Given the description of an element on the screen output the (x, y) to click on. 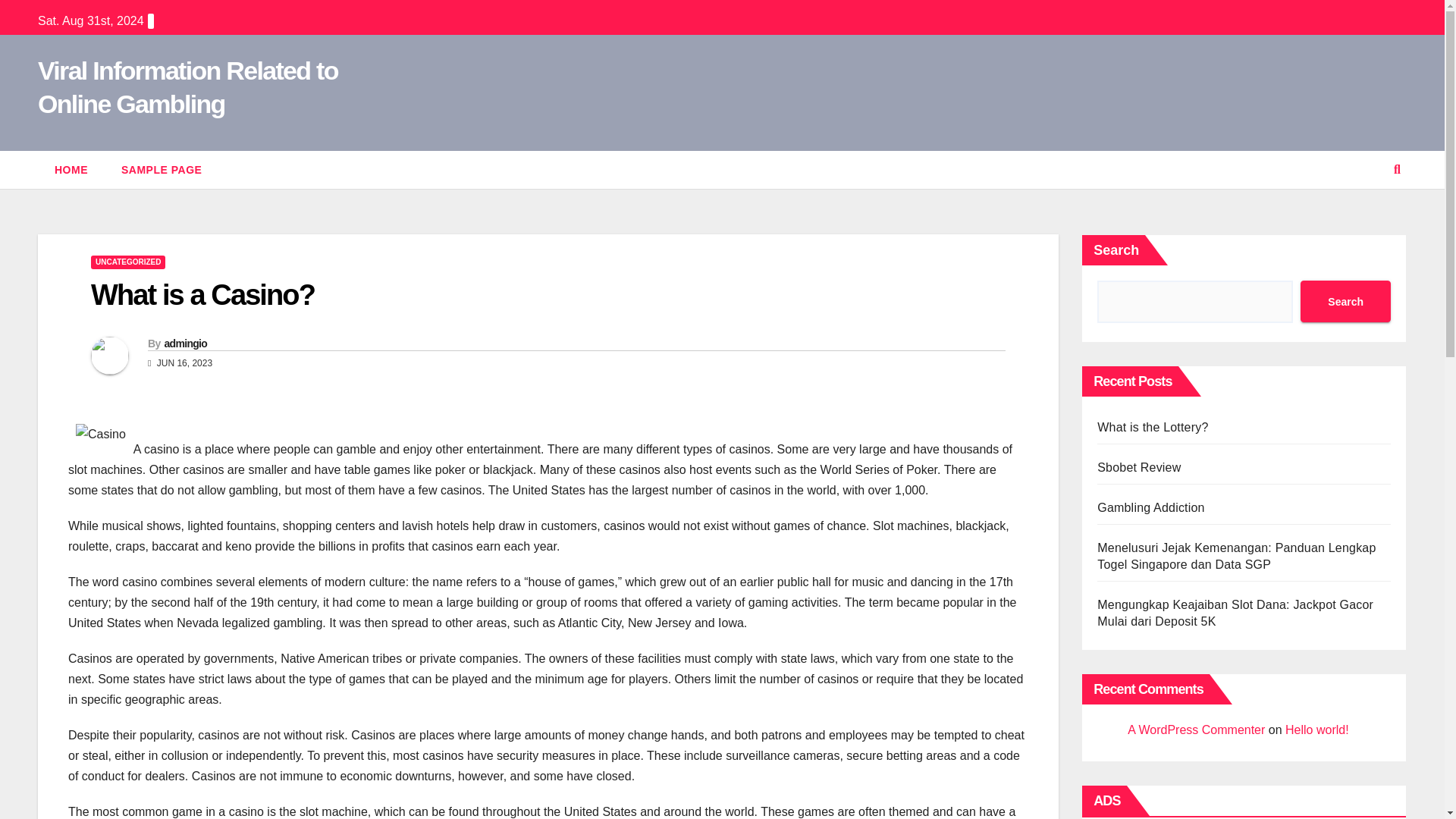
Viral Information Related to Online Gambling (187, 86)
HOME (70, 169)
What is the Lottery? (1152, 427)
What is a Casino? (202, 295)
Gambling Addiction (1150, 507)
Permalink to: What is a Casino? (202, 295)
Sbobet Review (1138, 467)
Search (1345, 301)
UNCATEGORIZED (127, 262)
SAMPLE PAGE (161, 169)
